Given the description of an element on the screen output the (x, y) to click on. 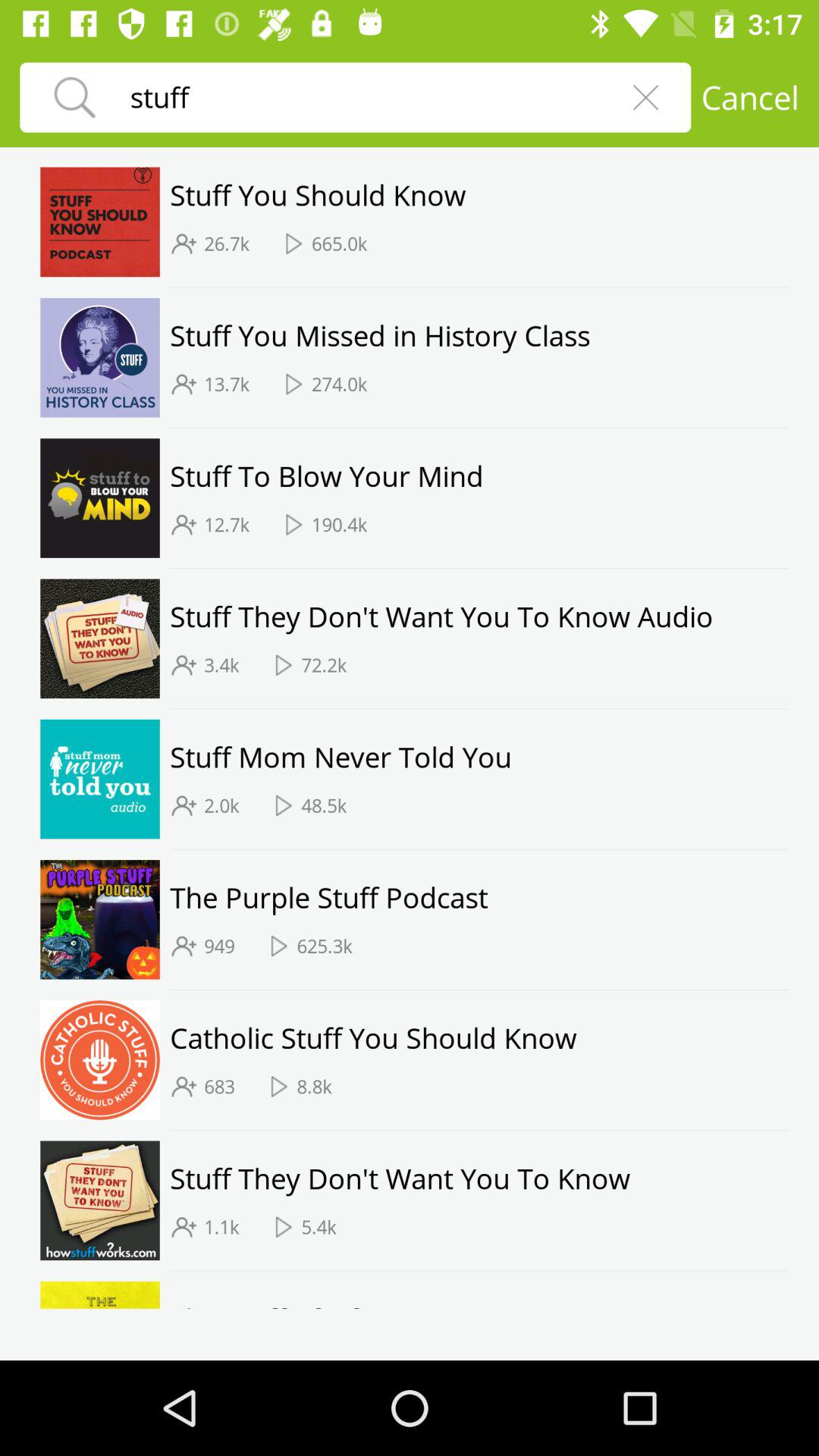
click on the image which says stuff to blow your mind (99, 497)
click on the image which is to the left of the text stuff mom never told you (99, 778)
go to triangle icon in first option (293, 243)
